Given the description of an element on the screen output the (x, y) to click on. 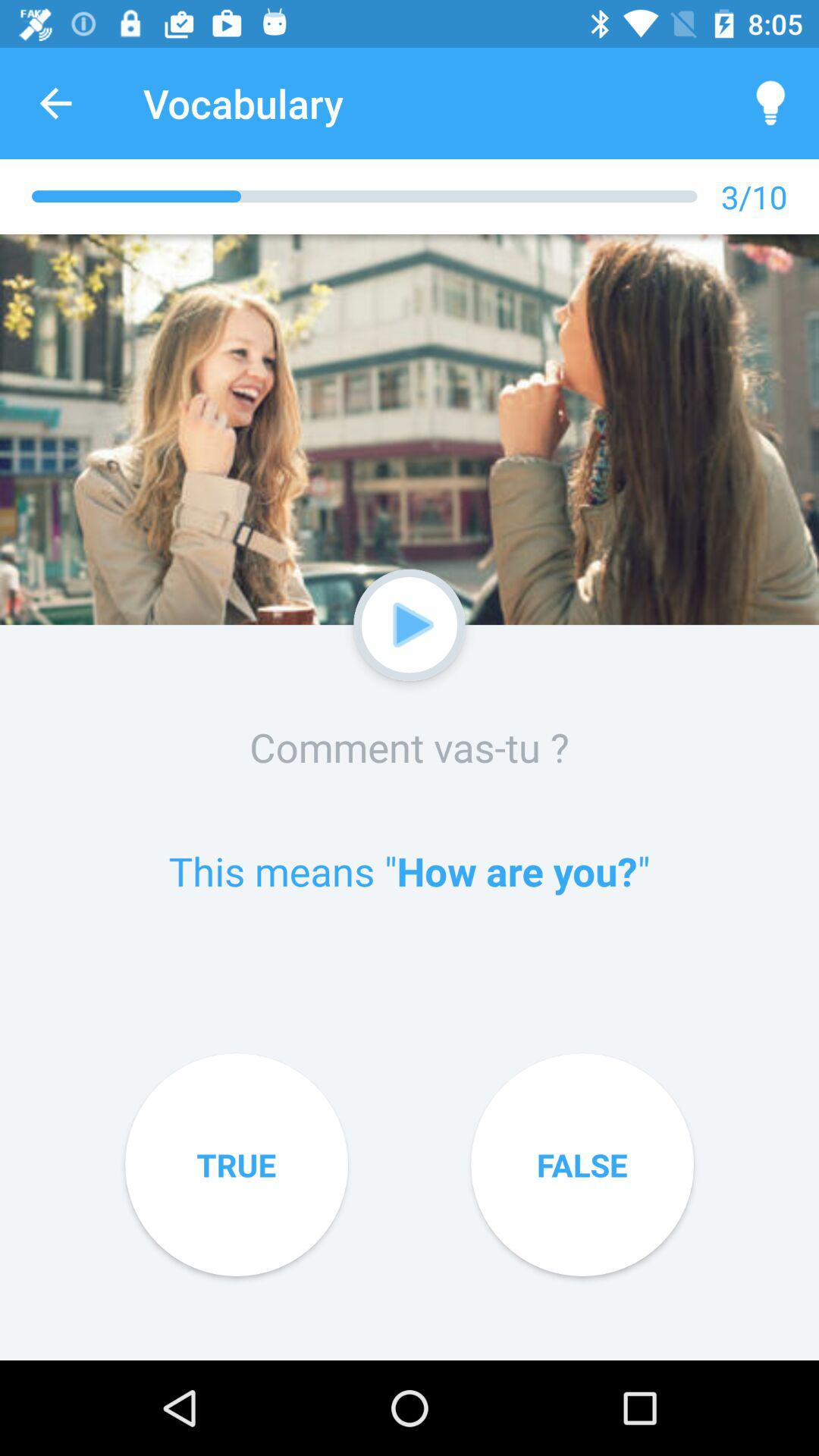
tap the icon to the left of vocabulary (55, 103)
